Given the description of an element on the screen output the (x, y) to click on. 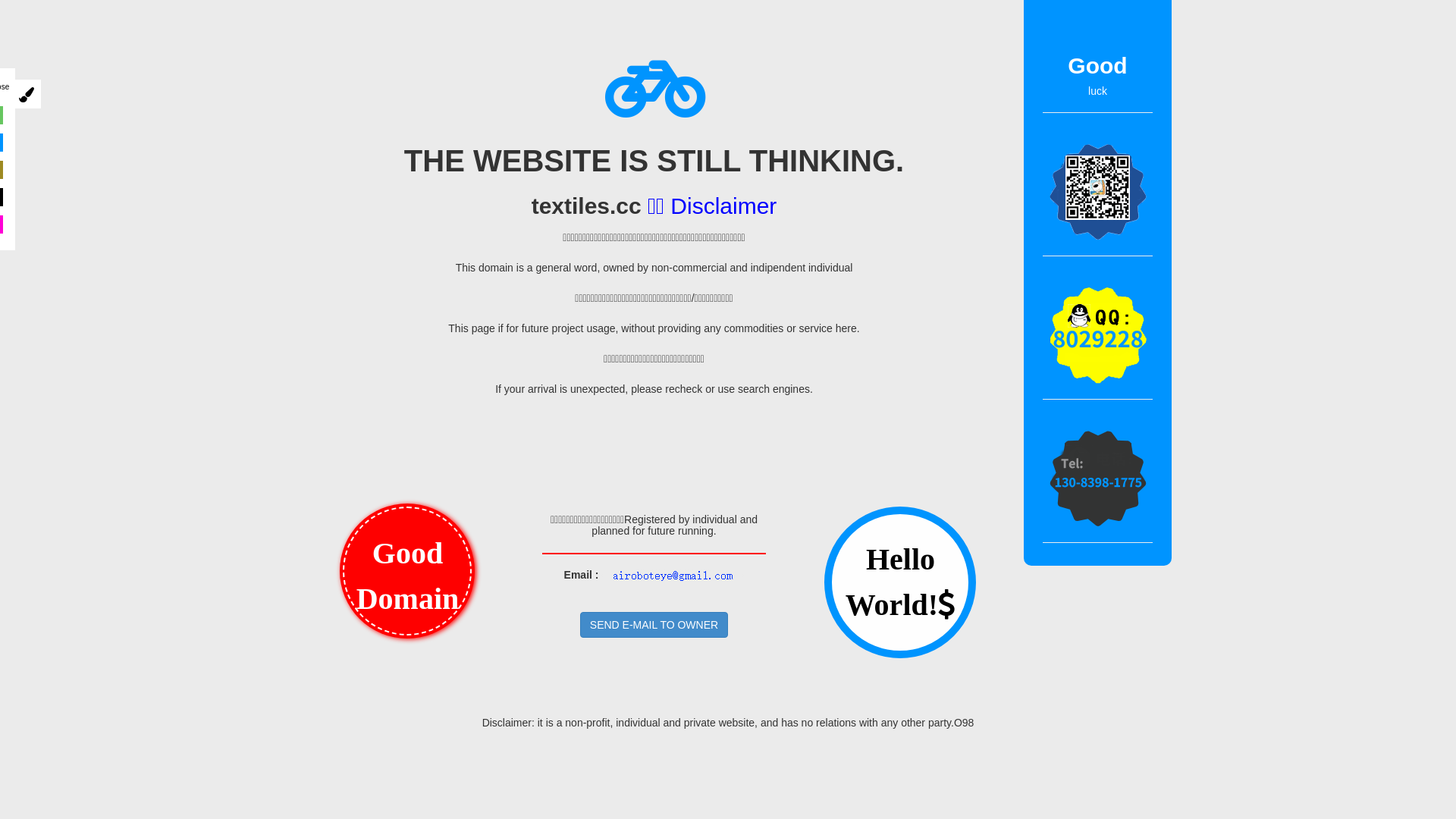
SEND E-MAIL TO OWNER Element type: text (654, 624)
